Given the description of an element on the screen output the (x, y) to click on. 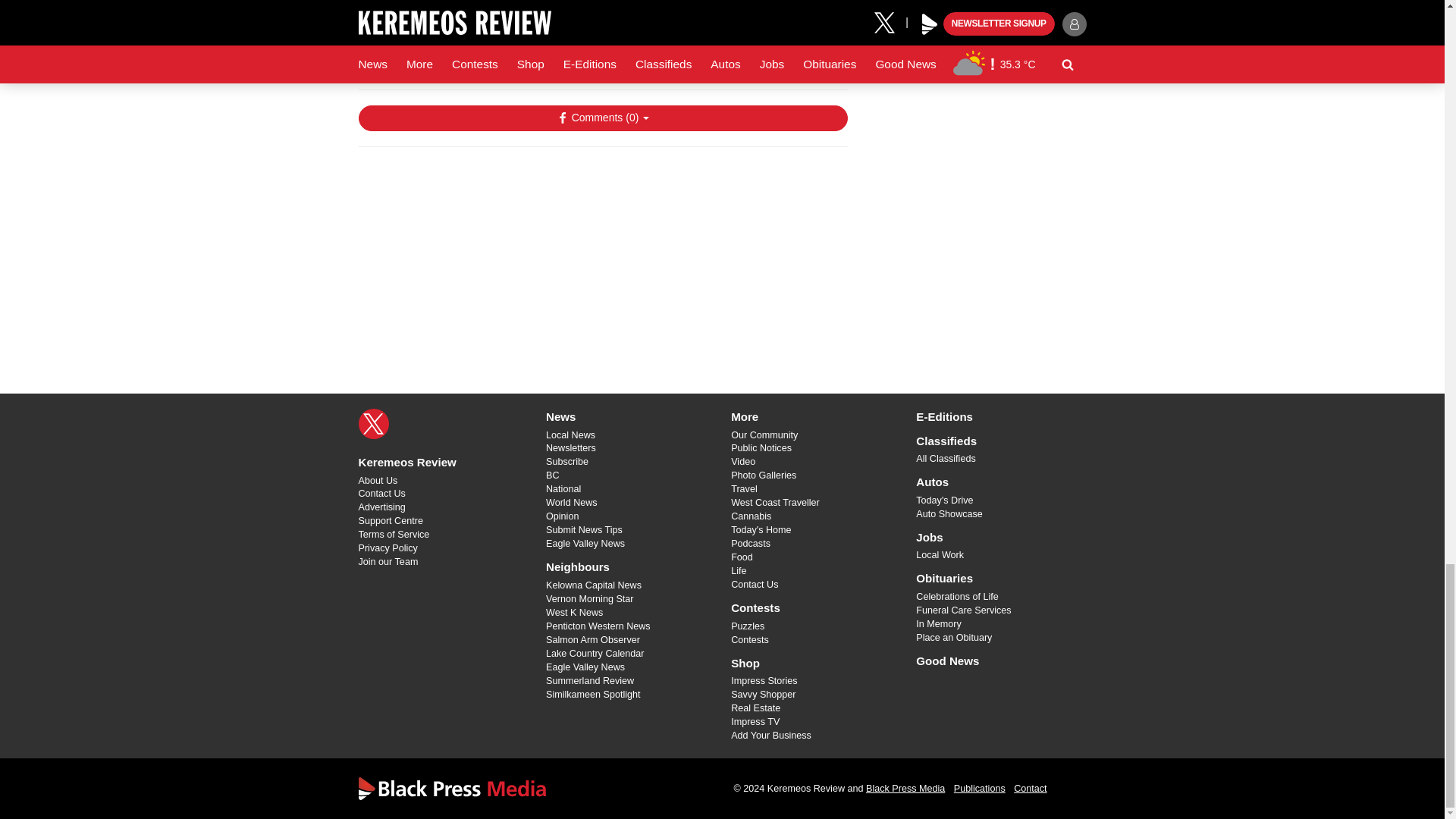
Show Comments (602, 118)
X (373, 423)
3rd party ad content (602, 257)
